Given the description of an element on the screen output the (x, y) to click on. 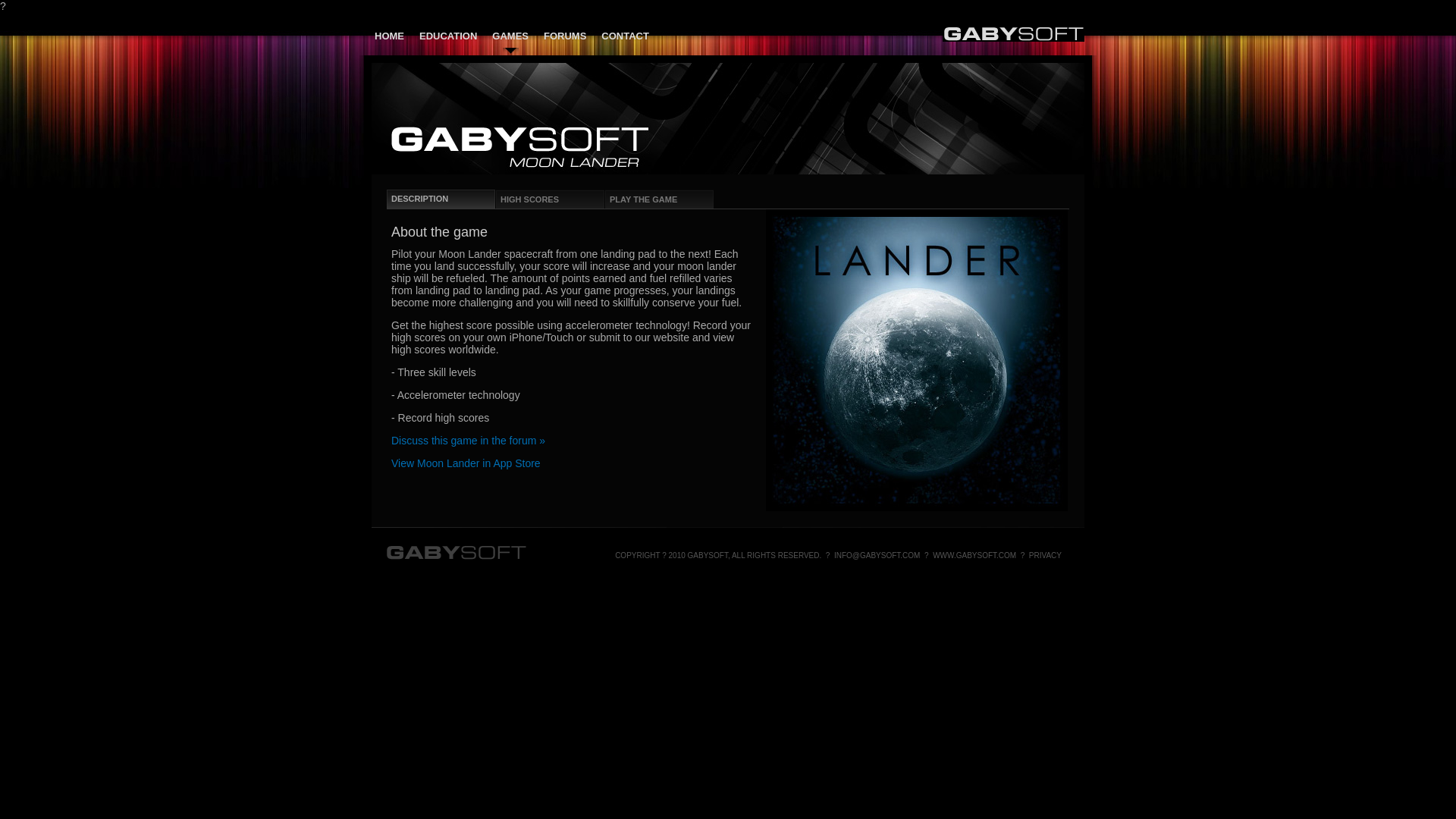
WWW.GABYSOFT.COM (974, 555)
HIGH SCORES (550, 198)
HOME (389, 35)
View Moon Lander in App Store (465, 463)
PLAY THE GAME (659, 198)
DESCRIPTION (441, 198)
FORUMS (564, 35)
PRIVACY (1045, 555)
GAMES (510, 35)
CONTACT (625, 35)
EDUCATION (448, 35)
